Given the description of an element on the screen output the (x, y) to click on. 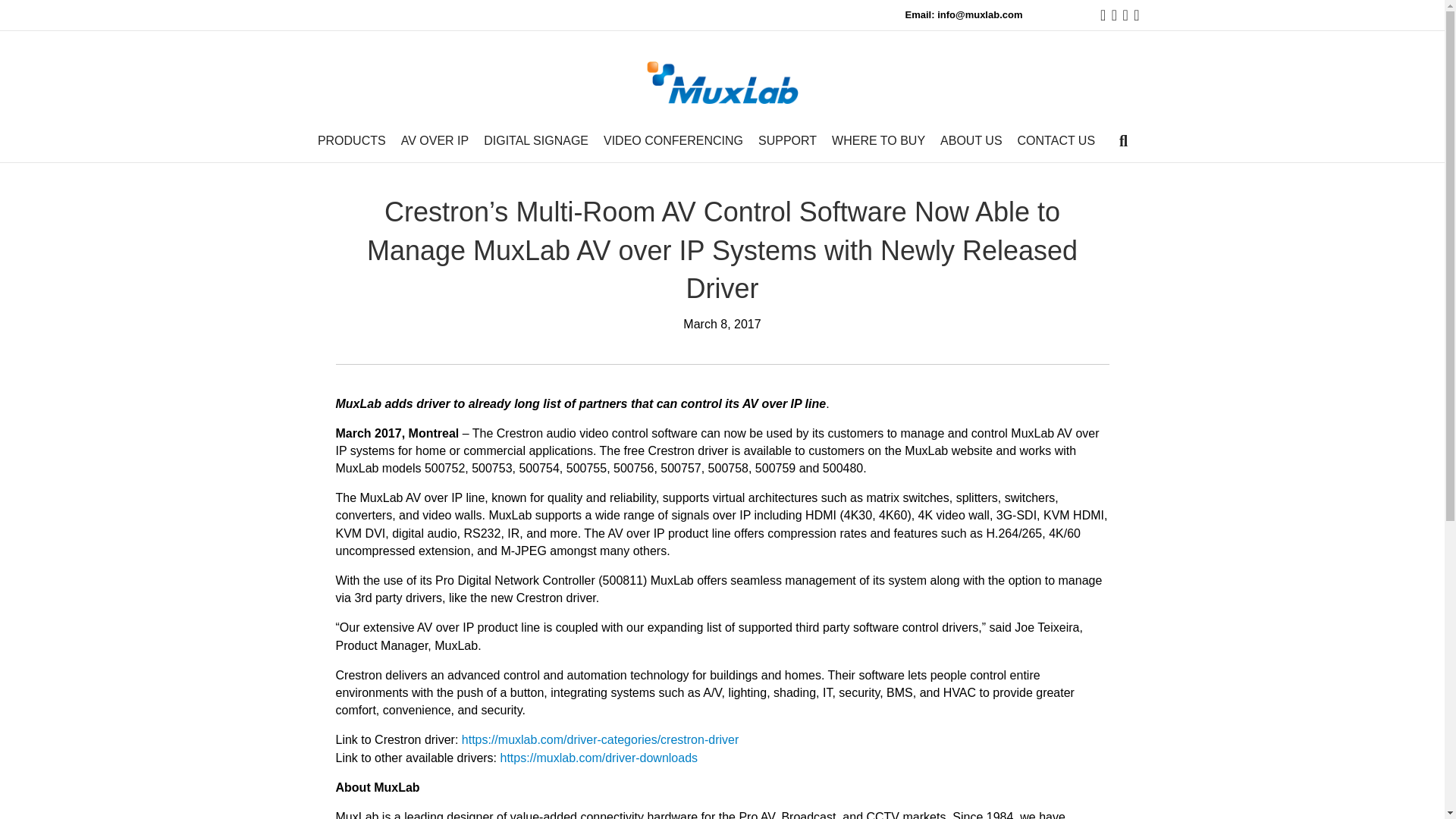
Mux-Logo (721, 82)
PRODUCTS (351, 140)
